Given the description of an element on the screen output the (x, y) to click on. 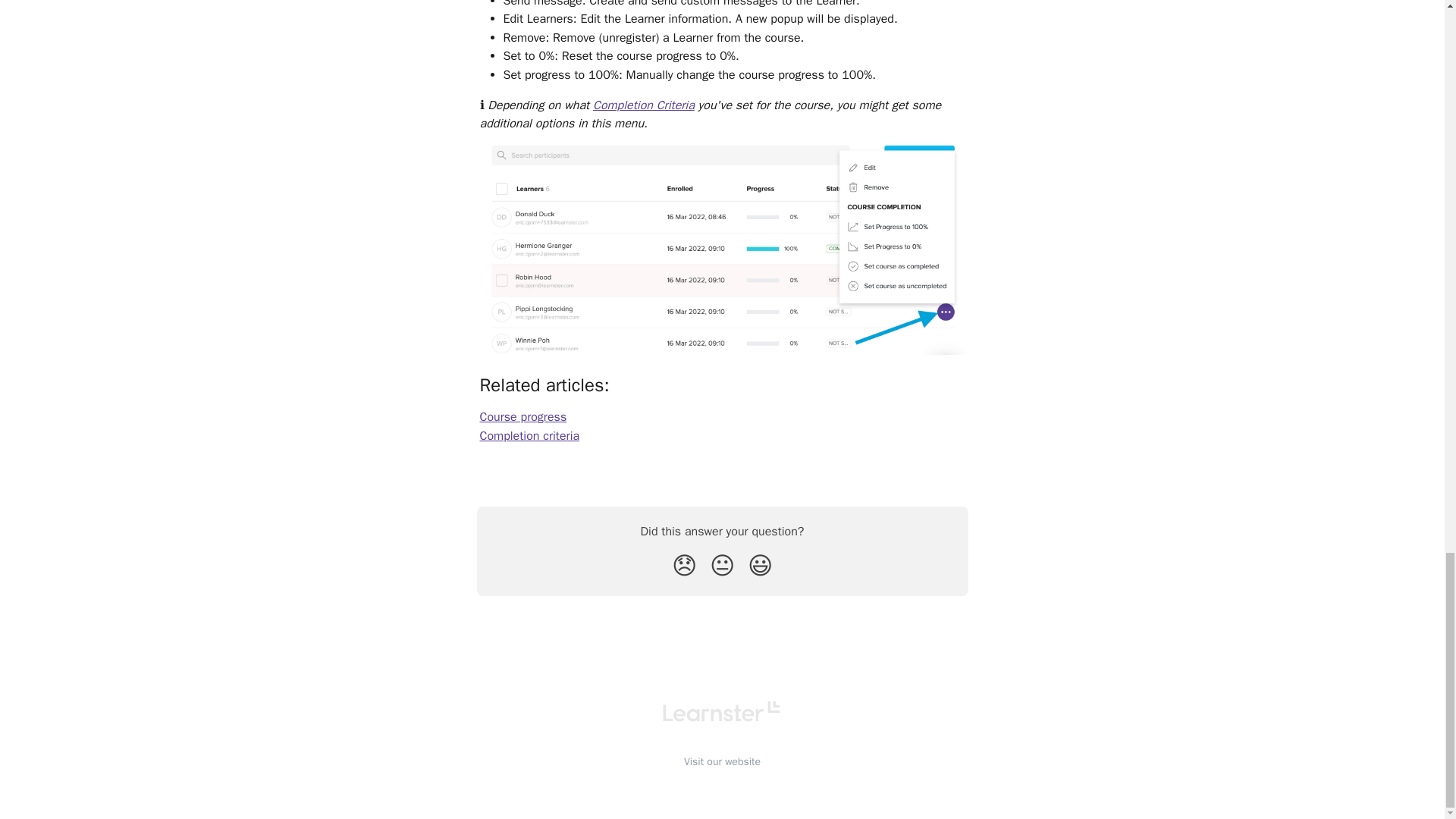
Completion criteria (529, 435)
Visit our website (722, 761)
Course progress (522, 417)
Completion Criteria (643, 105)
